Given the description of an element on the screen output the (x, y) to click on. 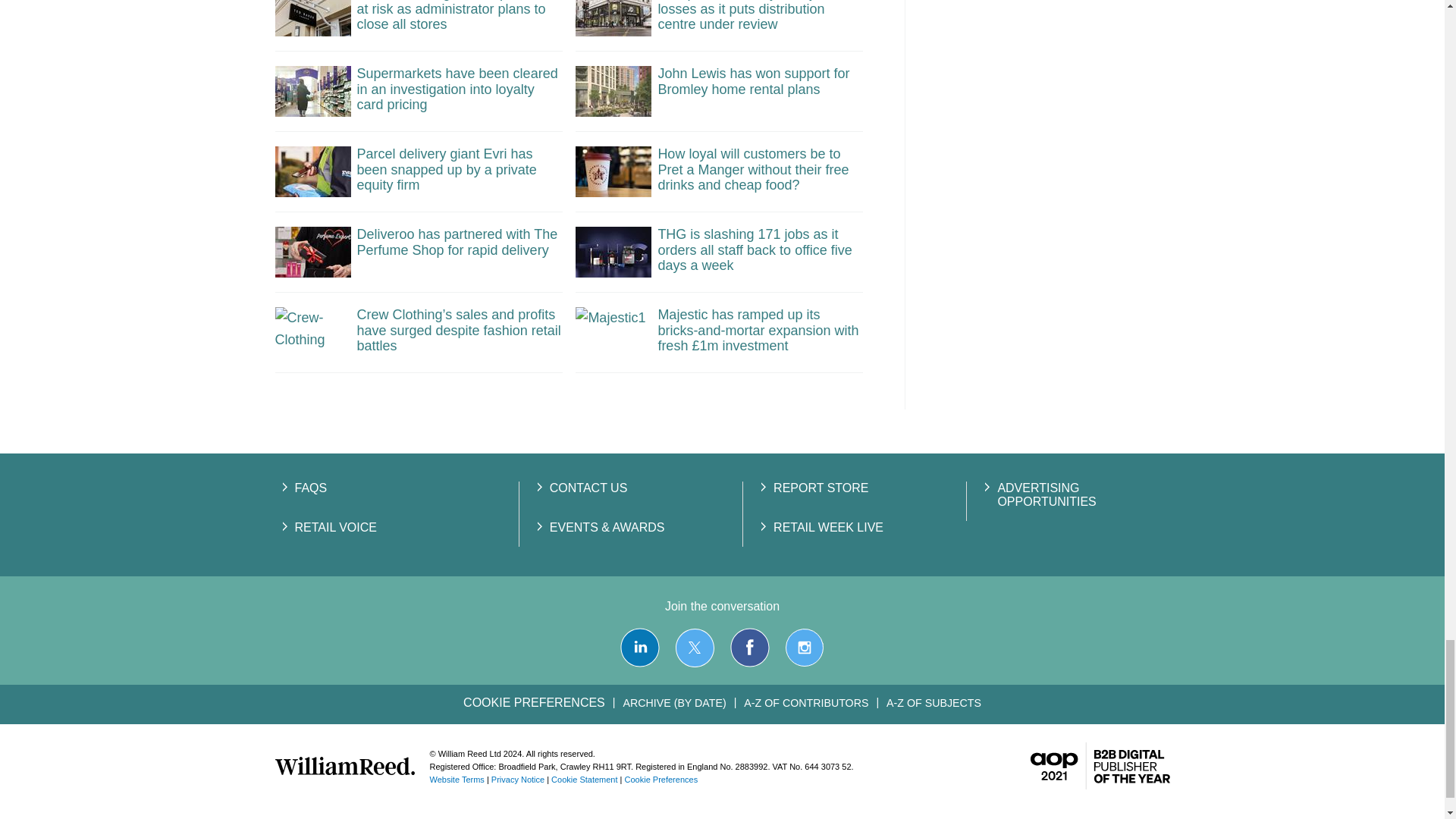
Connect with us on X (694, 647)
Connect with us on Instagram (804, 647)
Connect with us on Facebook (750, 647)
Connect with us on LinkedIn (639, 647)
